Given the description of an element on the screen output the (x, y) to click on. 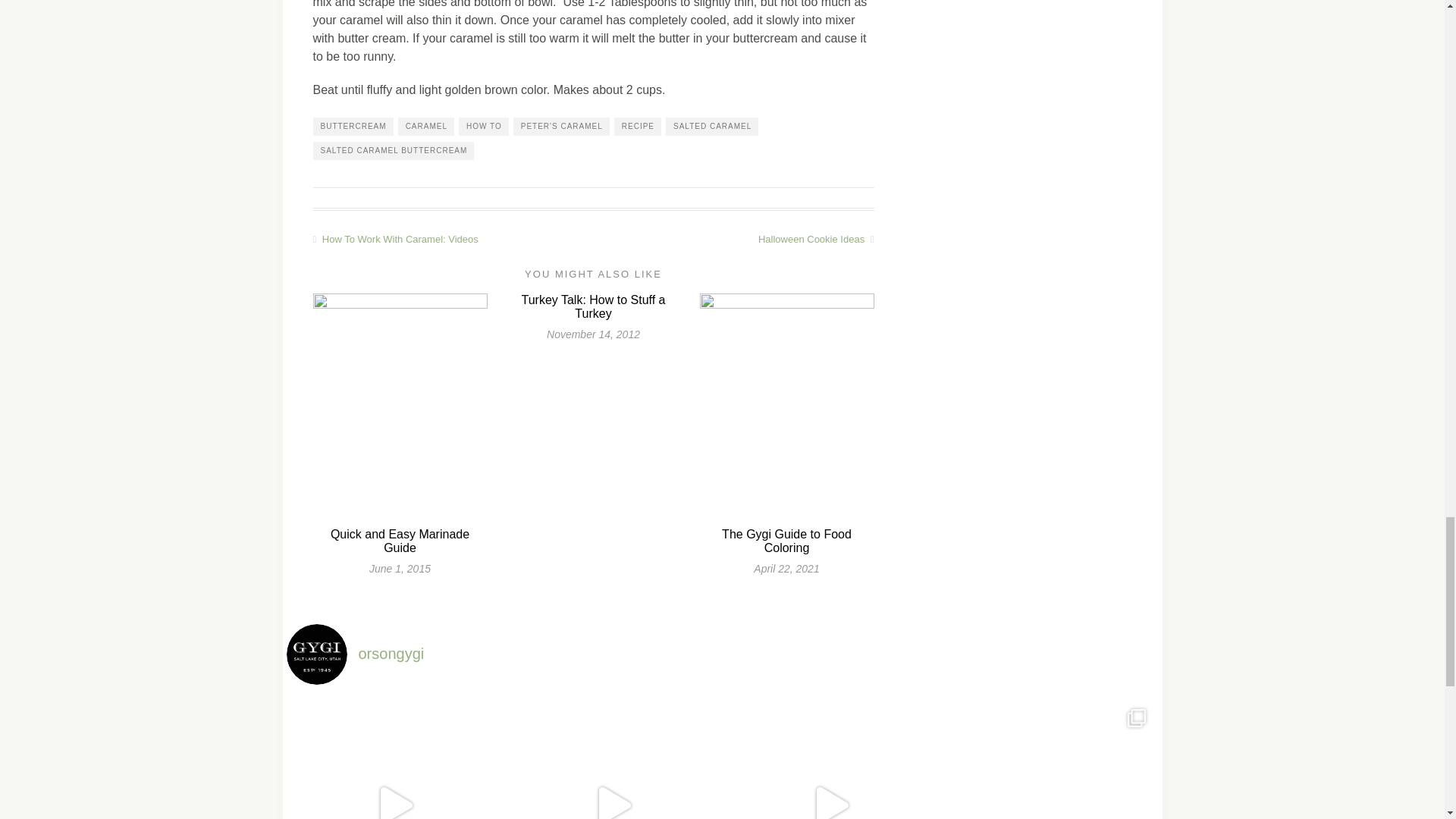
BUTTERCREAM (353, 126)
Turkey Talk: How to Stuff a Turkey (593, 306)
The Gygi Guide to Food Coloring (786, 540)
HOW TO (483, 126)
How To Work With Caramel: Videos (452, 238)
SALTED CARAMEL BUTTERCREAM (393, 150)
Quick and Easy Marinade Guide (399, 540)
Halloween Cookie Ideas (732, 238)
RECIPE (637, 126)
SALTED CARAMEL (711, 126)
